Given the description of an element on the screen output the (x, y) to click on. 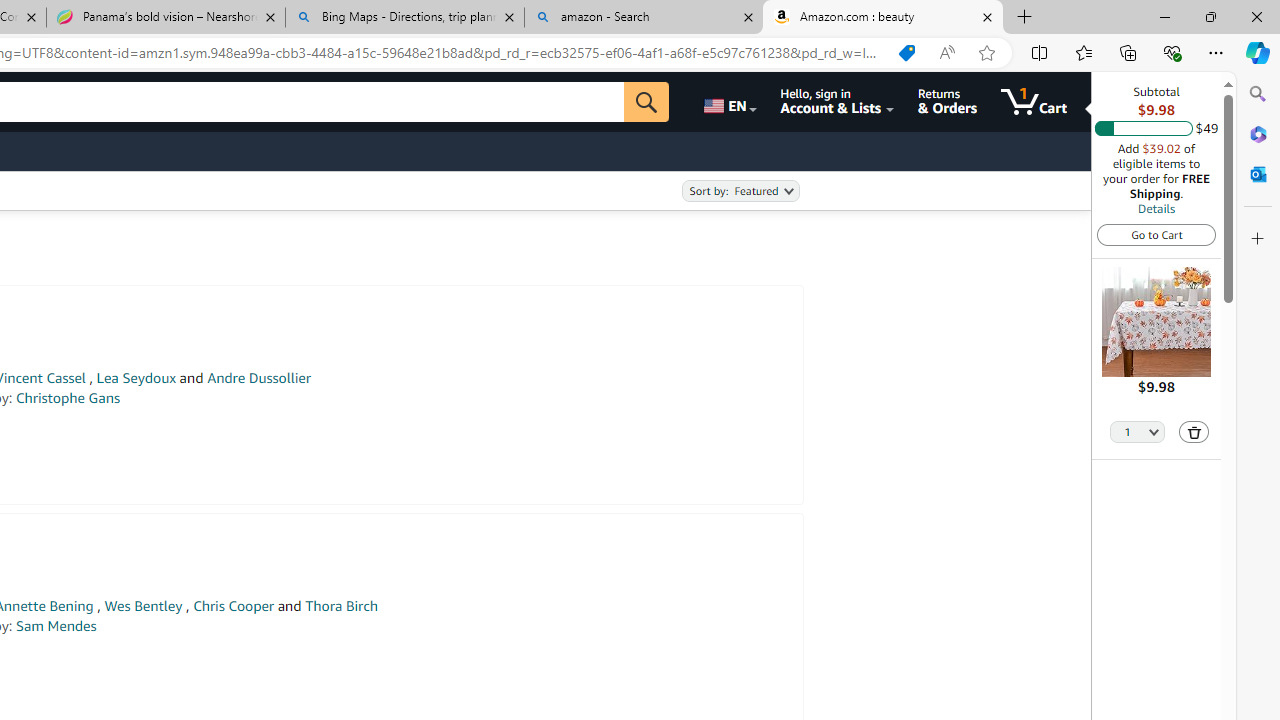
Delete (1193, 431)
Returns & Orders (946, 101)
Sam Mendes (56, 626)
Wes Bentley (143, 606)
Sort by: (740, 191)
Go to Cart (1156, 234)
Quantity Selector (1137, 430)
Thora Birch (340, 606)
Choose a language for shopping. (728, 101)
Details (1156, 208)
